Given the description of an element on the screen output the (x, y) to click on. 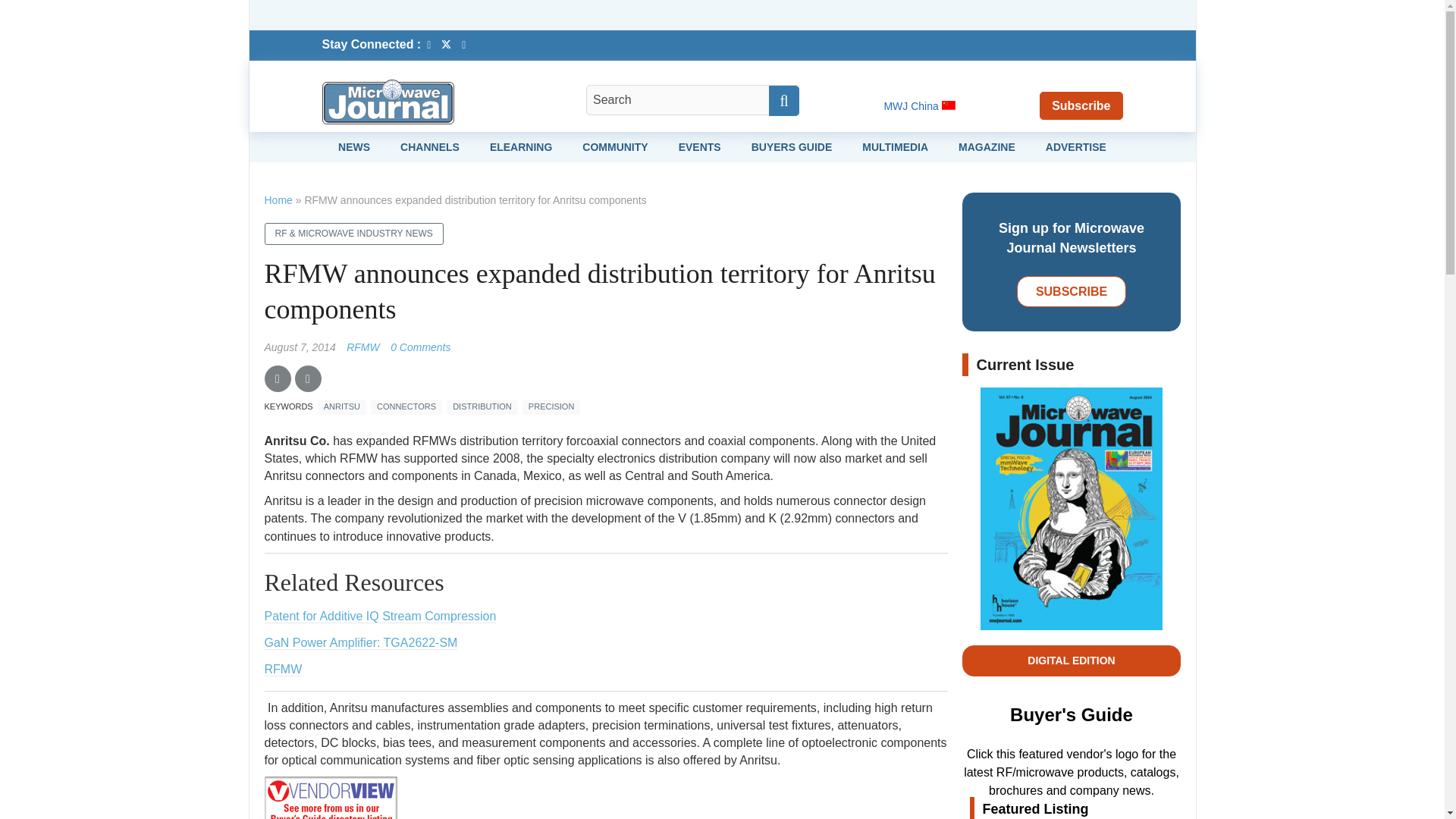
Subscribe (1080, 105)
CHANNELS (430, 146)
NEWS (353, 146)
COMMUNITY (615, 146)
ELEARNING (520, 146)
MWJ China (919, 105)
